Given the description of an element on the screen output the (x, y) to click on. 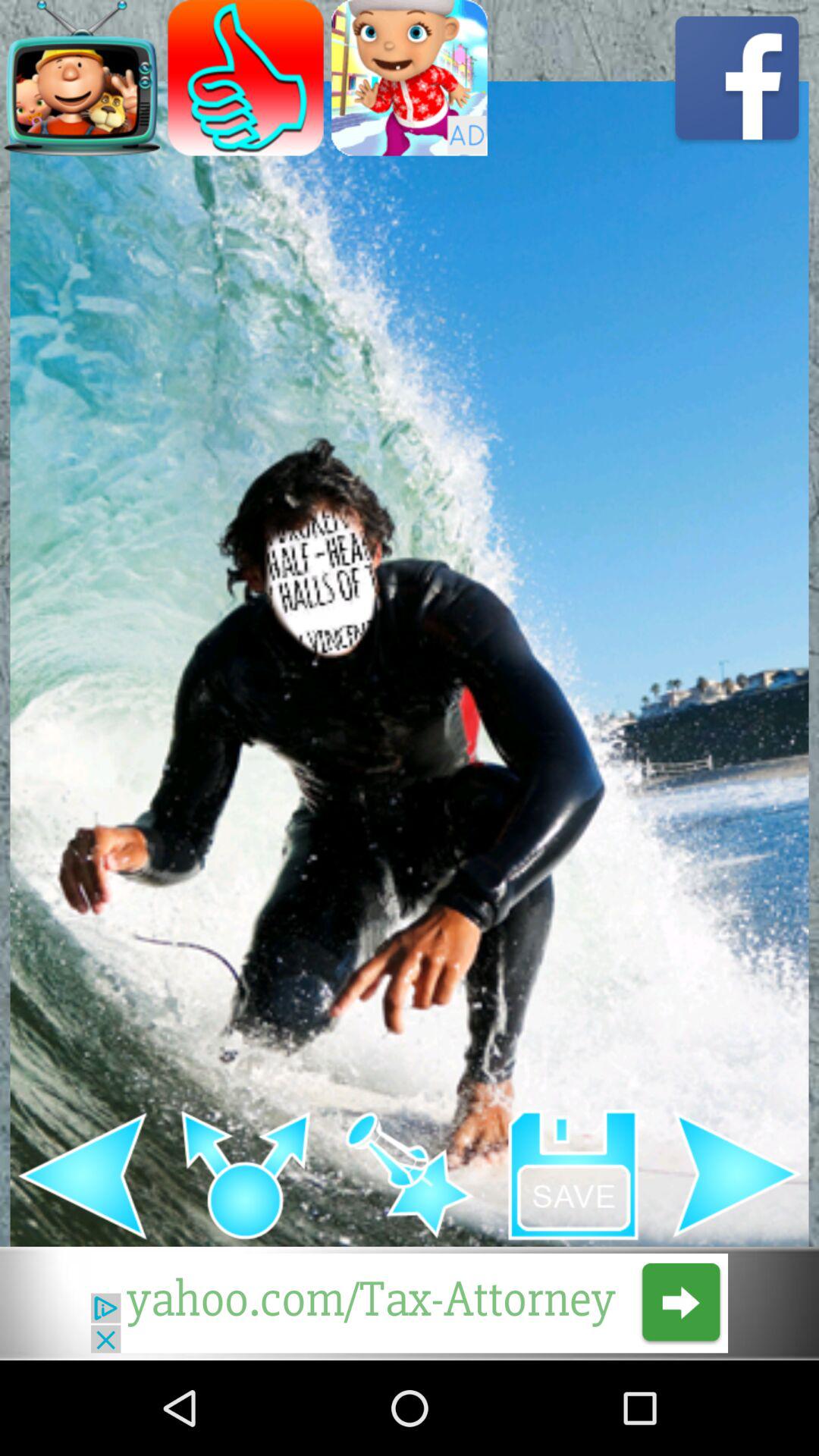
to save (573, 1174)
